Given the description of an element on the screen output the (x, y) to click on. 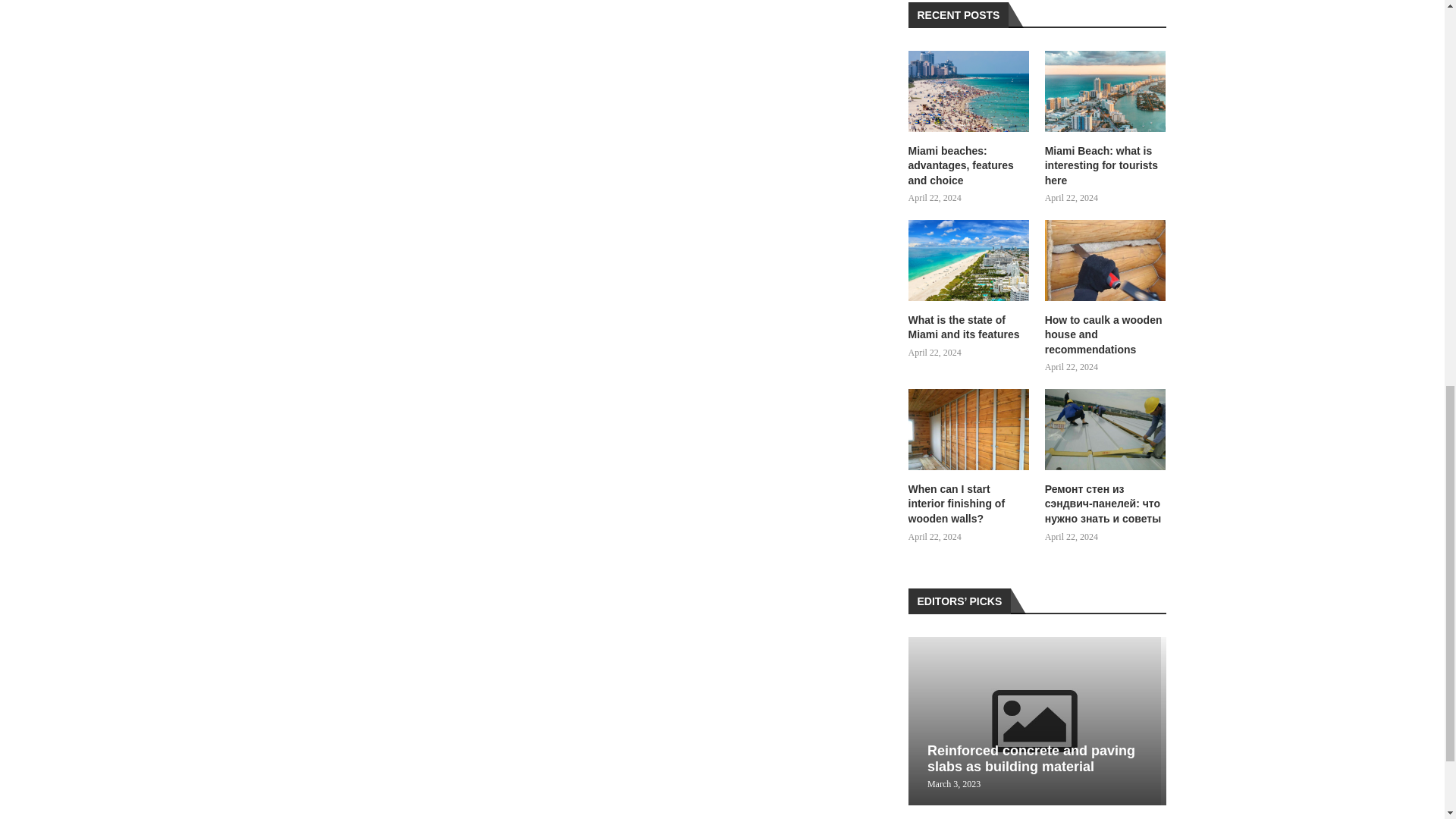
How to caulk a wooden house and recommendations (1105, 260)
When can I start interior finishing of wooden walls? (968, 429)
When can I start interior finishing of wooden walls? (968, 504)
How to caulk a wooden house and recommendations (1105, 334)
Miami Beach: what is interesting for tourists here (1105, 166)
What is the state of Miami and its features (968, 327)
Miami Beach: what is interesting for tourists here (1105, 90)
Miami beaches: advantages, features and choice (968, 90)
What is the state of Miami and its features (968, 260)
Miami beaches: advantages, features and choice (968, 166)
